Given the description of an element on the screen output the (x, y) to click on. 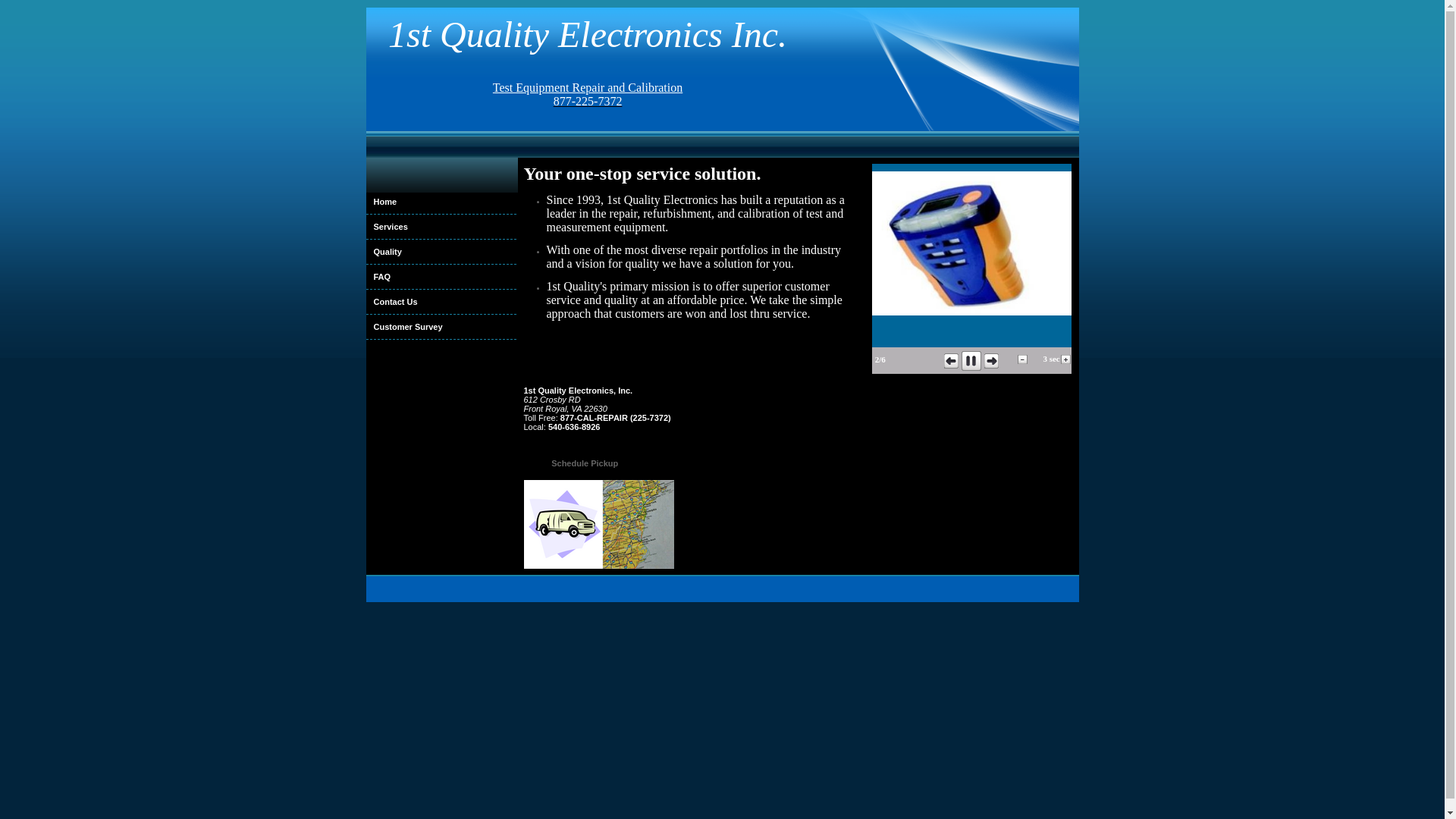
Pause Element type: hover (971, 360)
Schedule Pickup Element type: text (584, 462)
Services Element type: text (440, 226)
Prev Element type: hover (951, 360)
Home Element type: text (440, 201)
Contact Us Element type: text (440, 301)
FAQ Element type: text (440, 276)
Quality Element type: text (440, 251)
minus Element type: hover (1022, 359)
add Element type: hover (1065, 359)
Next Element type: hover (991, 360)
Customer Survey Element type: text (440, 326)
